Given the description of an element on the screen output the (x, y) to click on. 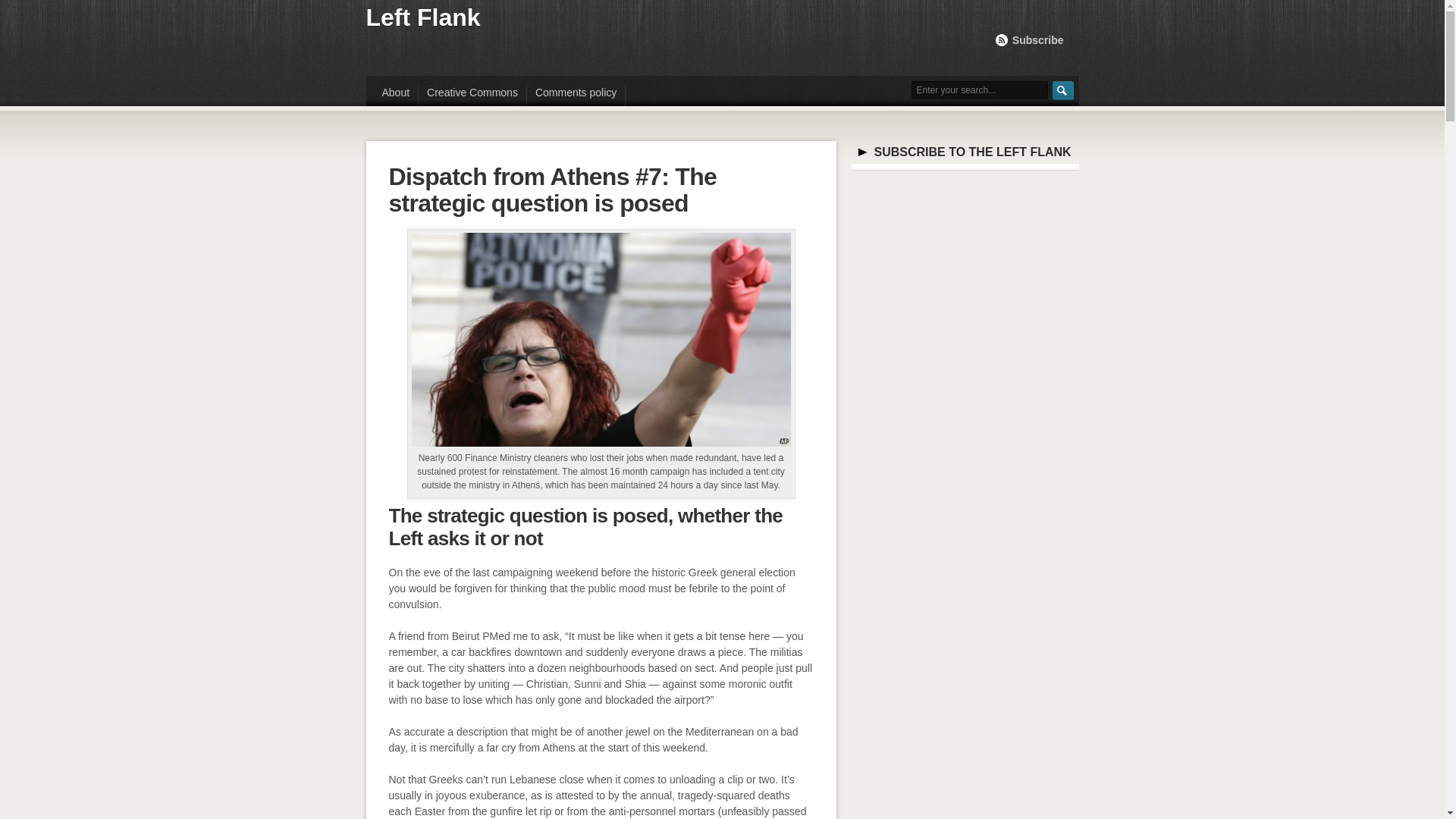
About (395, 92)
Left Flank (422, 17)
Search (1063, 90)
Search (1063, 90)
Subscribe (1029, 39)
Comments policy (575, 92)
Creative Commons (472, 92)
